Given the description of an element on the screen output the (x, y) to click on. 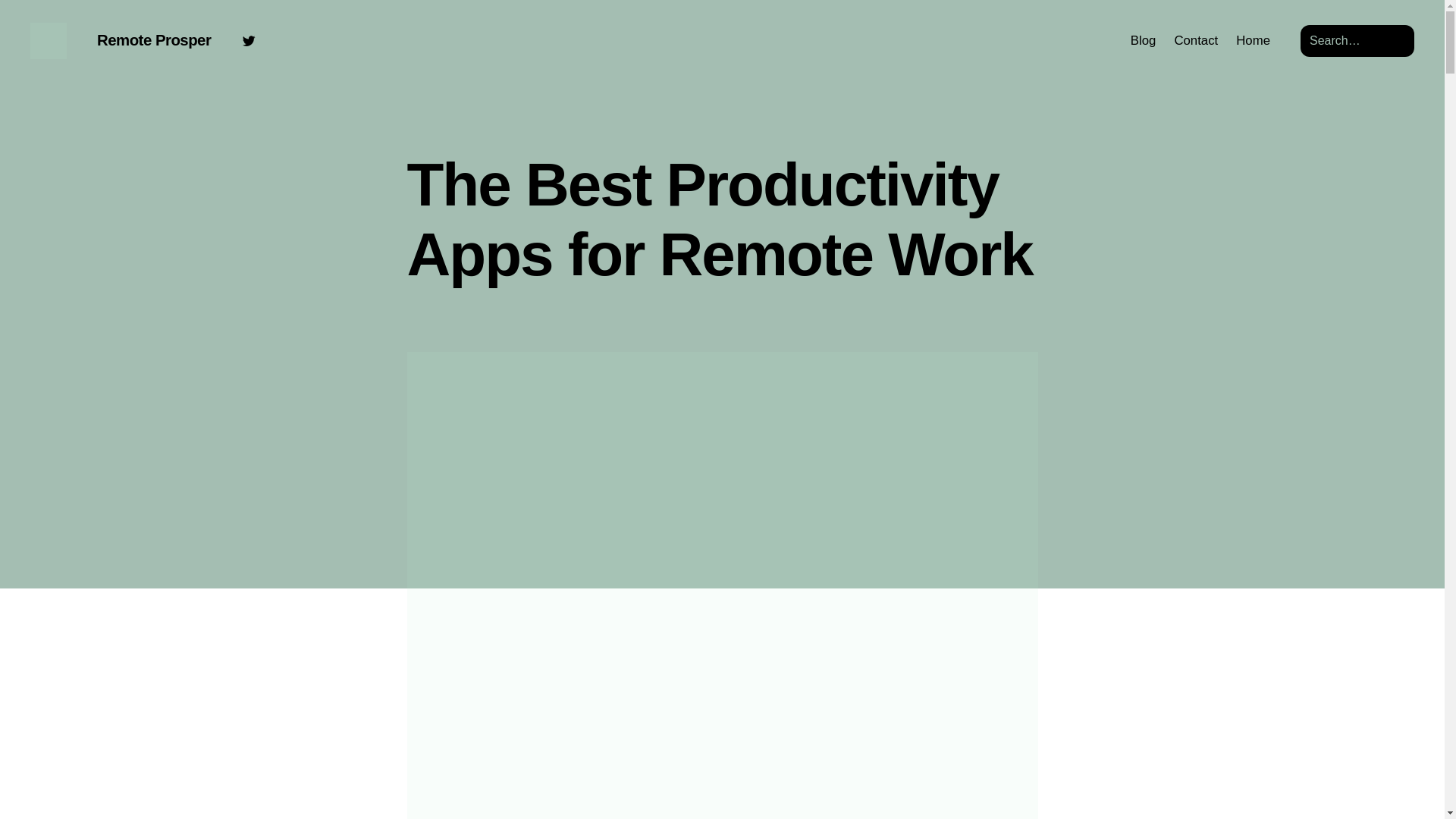
Remote Prosper (154, 39)
Twitter (248, 40)
Blog (1143, 41)
Contact (1195, 41)
Home (1252, 41)
